Given the description of an element on the screen output the (x, y) to click on. 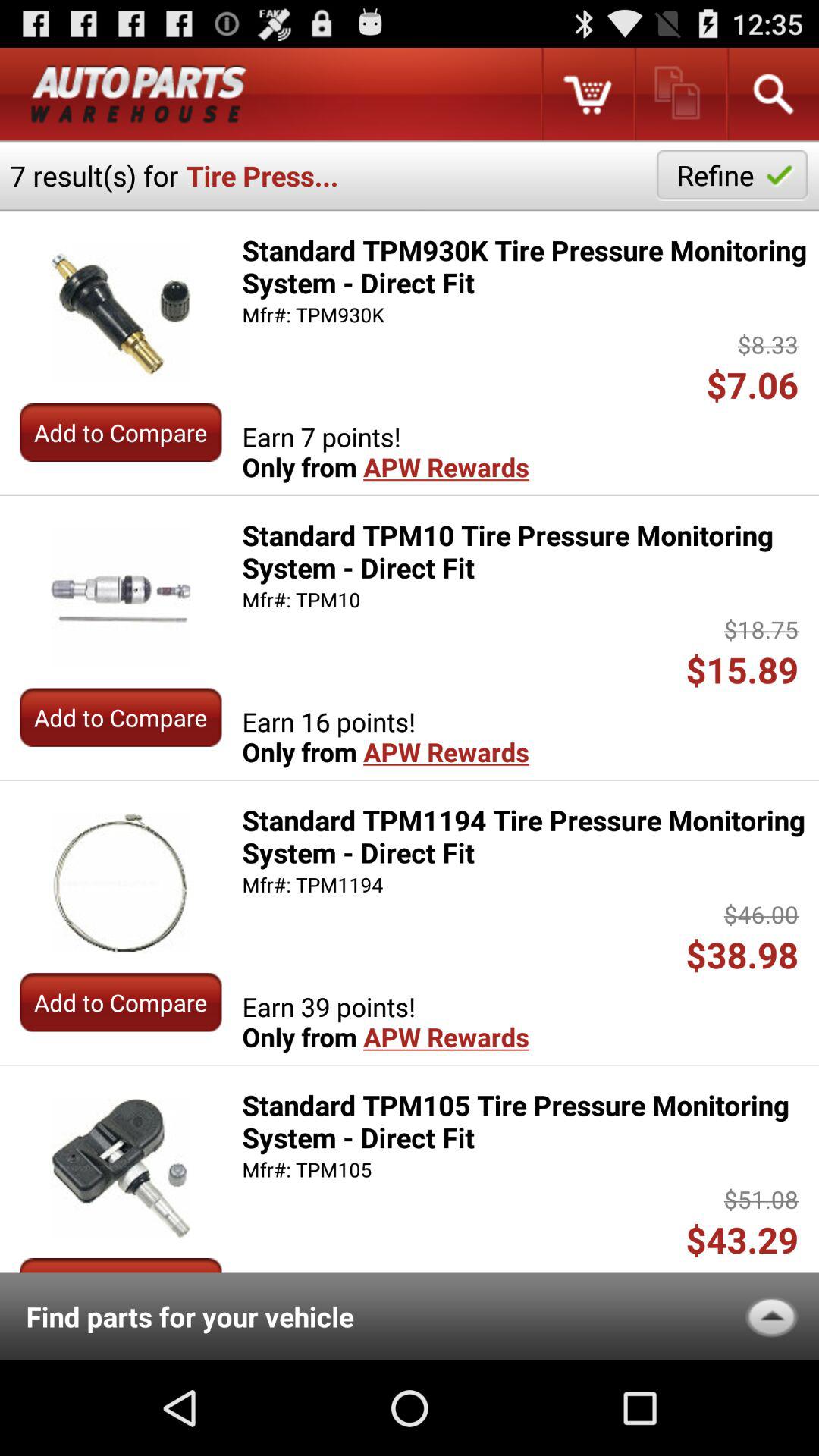
the red colored text mentioned as 706 (757, 385)
select the text  earn 7 points beside add to compare of first row (385, 451)
move to right of autoparts (586, 93)
